Given the description of an element on the screen output the (x, y) to click on. 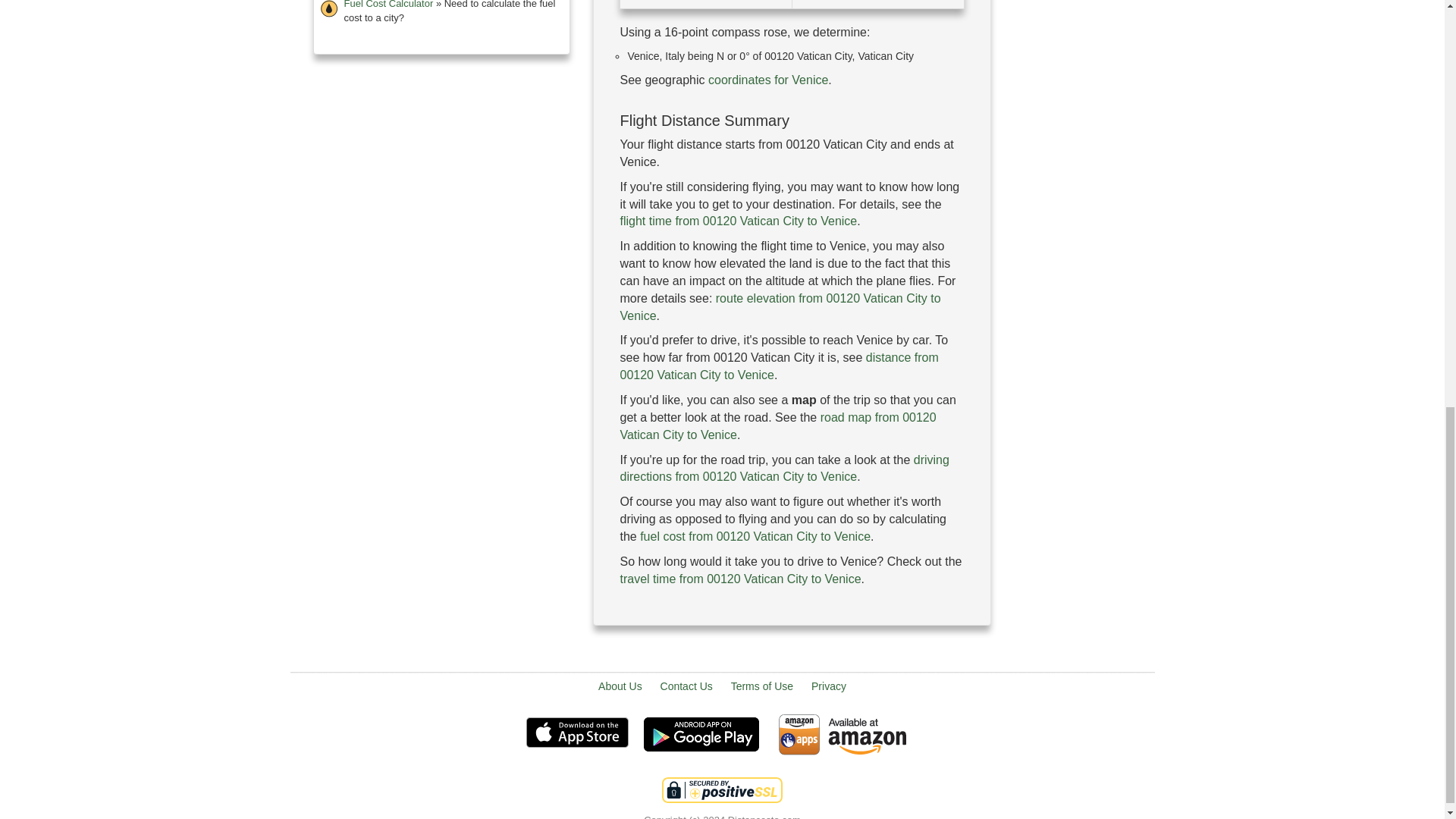
coordinates for Venice (767, 79)
fuel cost from 00120 Vatican City to Venice (755, 535)
travel time from 00120 Vatican City to Venice (740, 578)
distance from 00120 Vatican City to Venice (778, 366)
route elevation from 00120 Vatican City to Venice (780, 306)
Advertisement (791, 645)
coordinates for Venice (767, 79)
driving directions from 00120 Vatican City to Venice (784, 468)
distance from 00120 Vatican City to Venice (778, 366)
driving directions from 00120 Vatican City to Venice (784, 468)
flight time from 00120 Vatican City to Venice (738, 220)
road map from 00120 Vatican City to Venice (778, 426)
route elevation from 00120 Vatican City to Venice (780, 306)
fuel cost from 00120 Vatican City to Venice (755, 535)
travel time from 00120 Vatican City to Venice (740, 578)
